Given the description of an element on the screen output the (x, y) to click on. 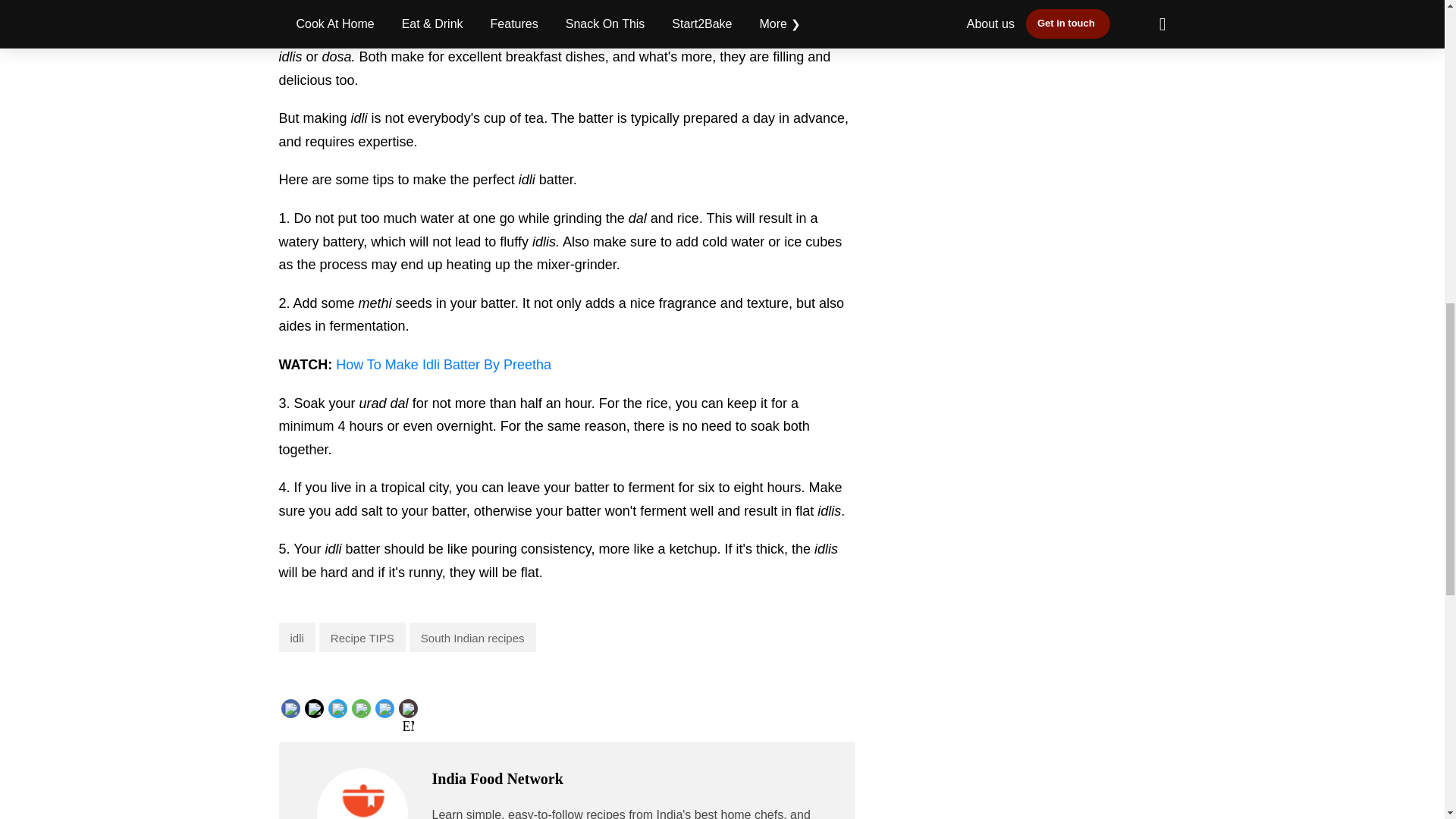
LinkedIn (363, 706)
telegram (415, 719)
facebook (321, 719)
Share by Email (407, 710)
Facebook (321, 706)
twitter (337, 719)
whatsapp (390, 719)
Twitter (338, 706)
linkedin (364, 719)
